Given the description of an element on the screen output the (x, y) to click on. 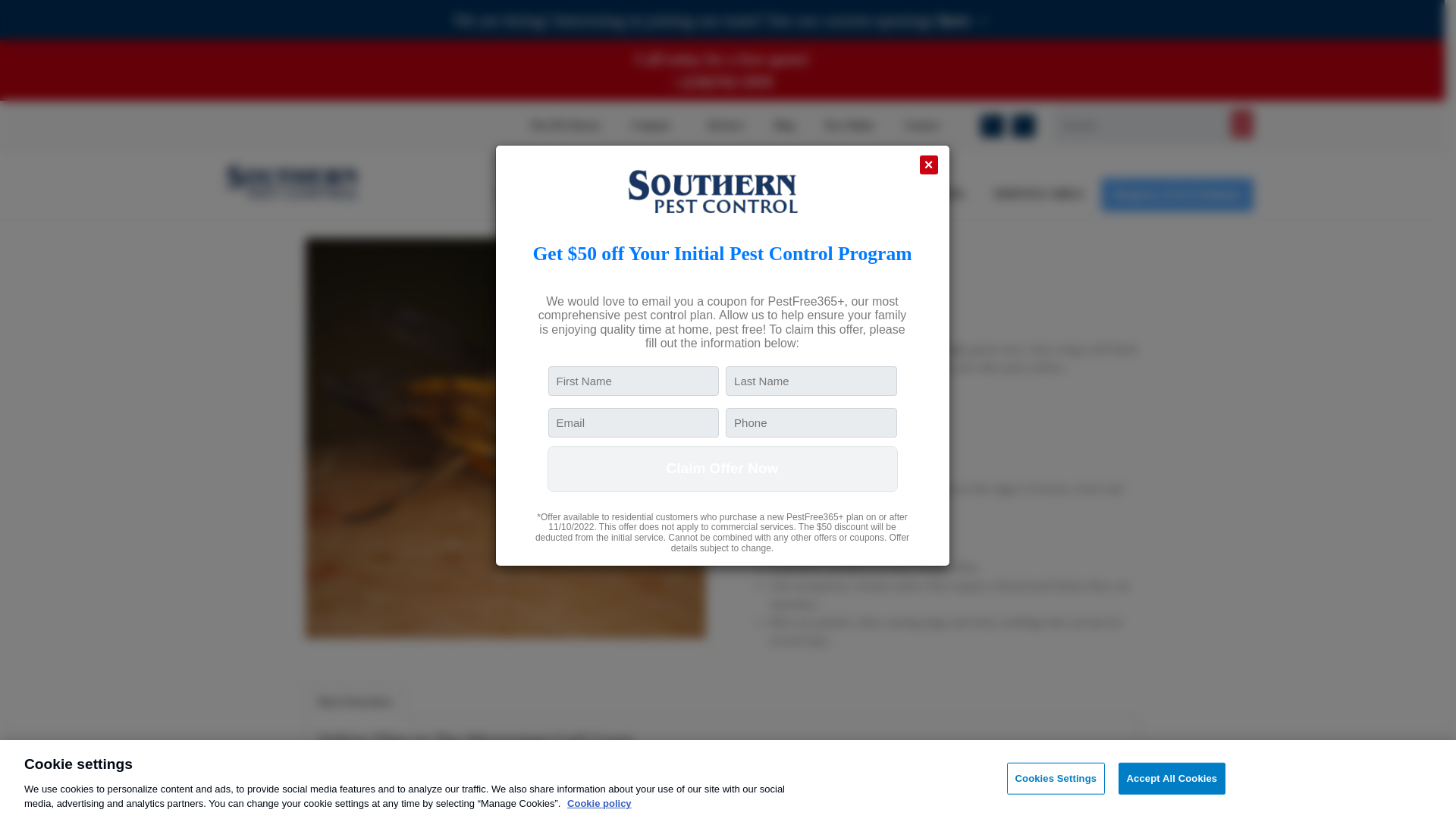
Pay Online (849, 125)
Claim Offer Now (722, 468)
FOR YOUR BUSINESS (785, 193)
FOR YOUR HOME (642, 193)
Contact (924, 125)
ABOUT US (531, 193)
Pest ID Library (565, 125)
Reviews (726, 125)
Coupons (654, 125)
Blog (783, 125)
